Given the description of an element on the screen output the (x, y) to click on. 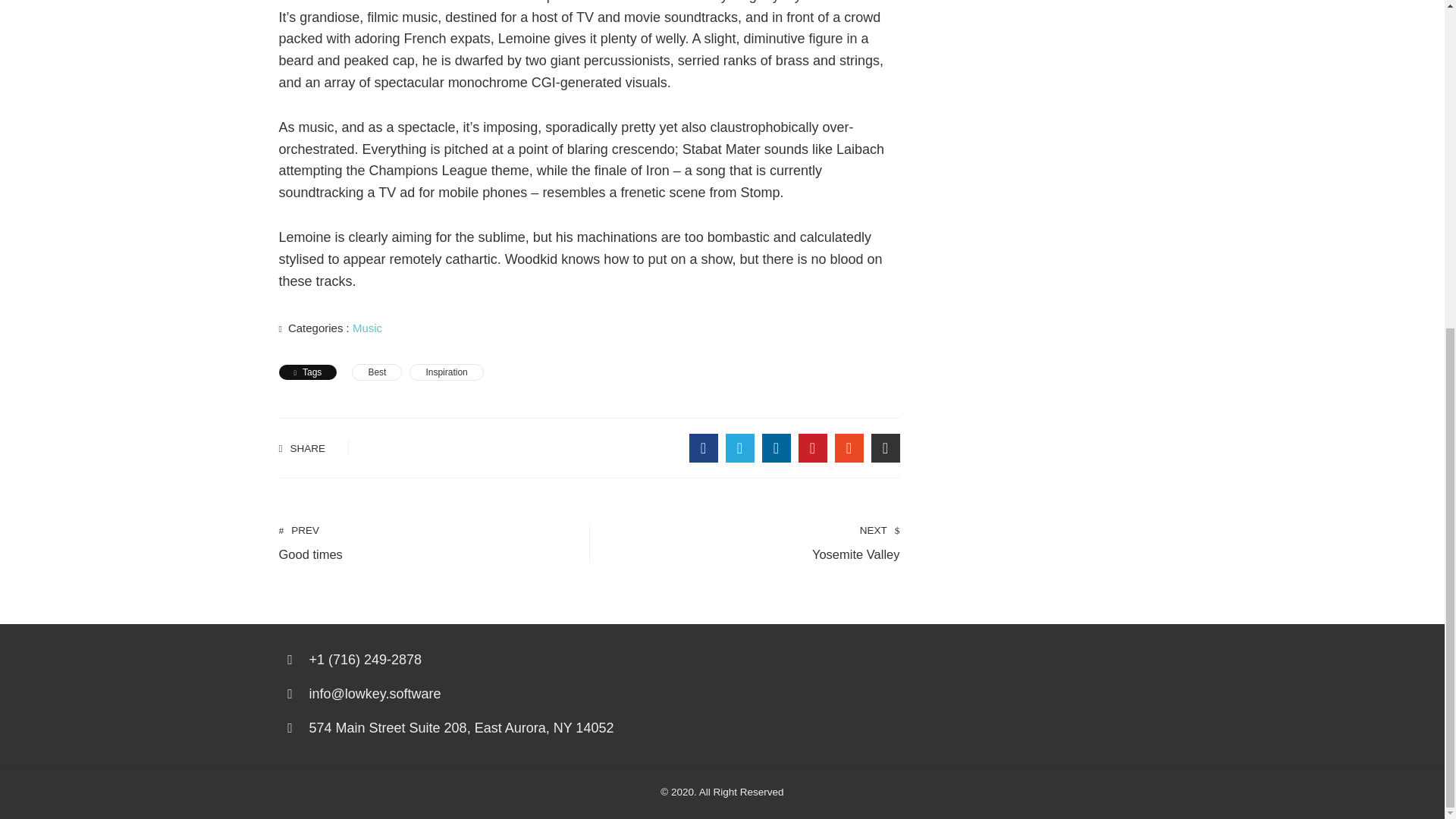
PINTEREST (812, 448)
EMAIL (884, 448)
Music (366, 327)
Inspiration (752, 542)
LINKEDIN (427, 542)
TWITTER (446, 371)
STUMBLEUPON (775, 448)
Best (739, 448)
FACEBOOK (848, 448)
